Given the description of an element on the screen output the (x, y) to click on. 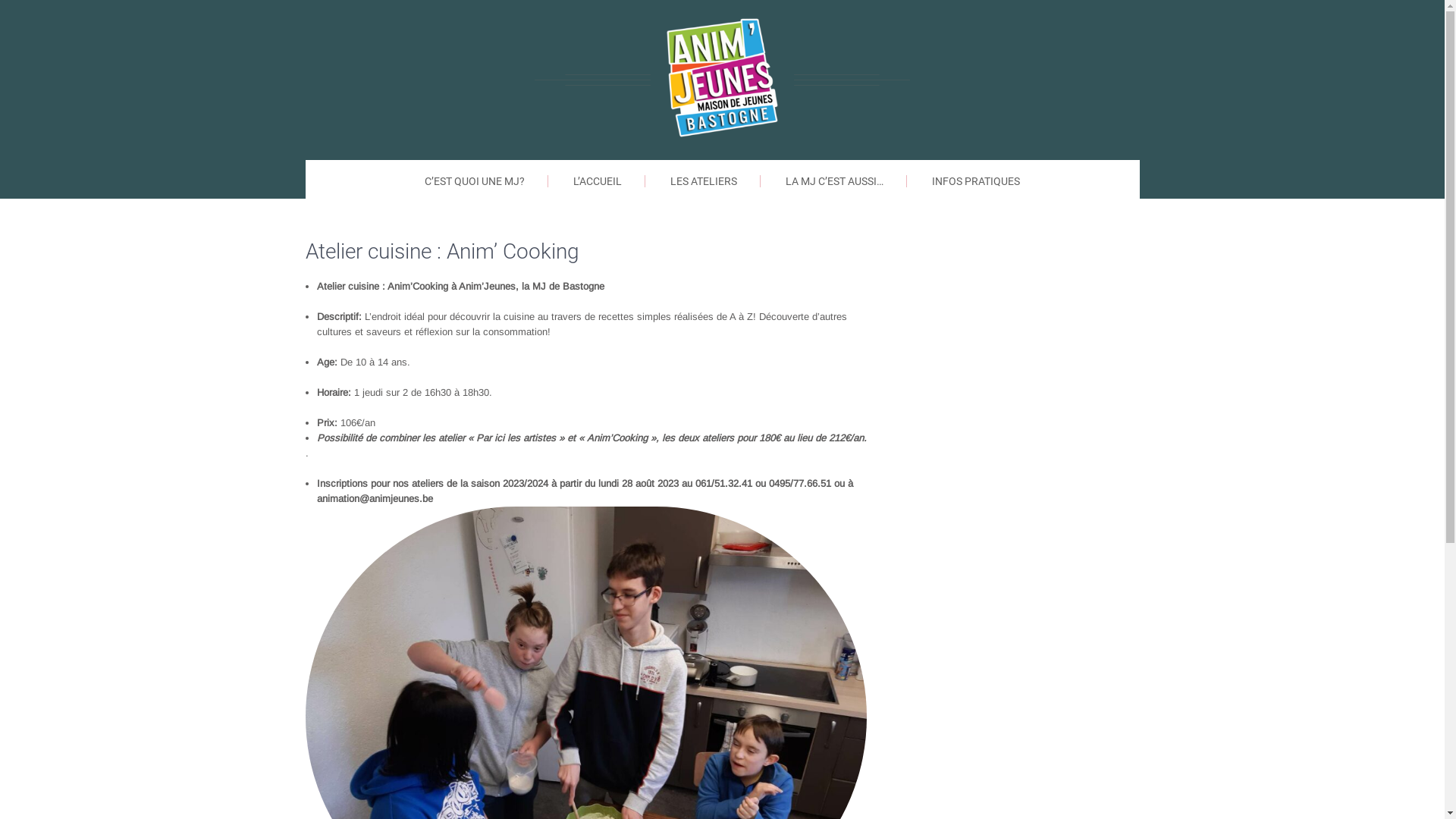
INFOS PRATIQUES Element type: text (975, 181)
LES ATELIERS Element type: text (703, 181)
